Given the description of an element on the screen output the (x, y) to click on. 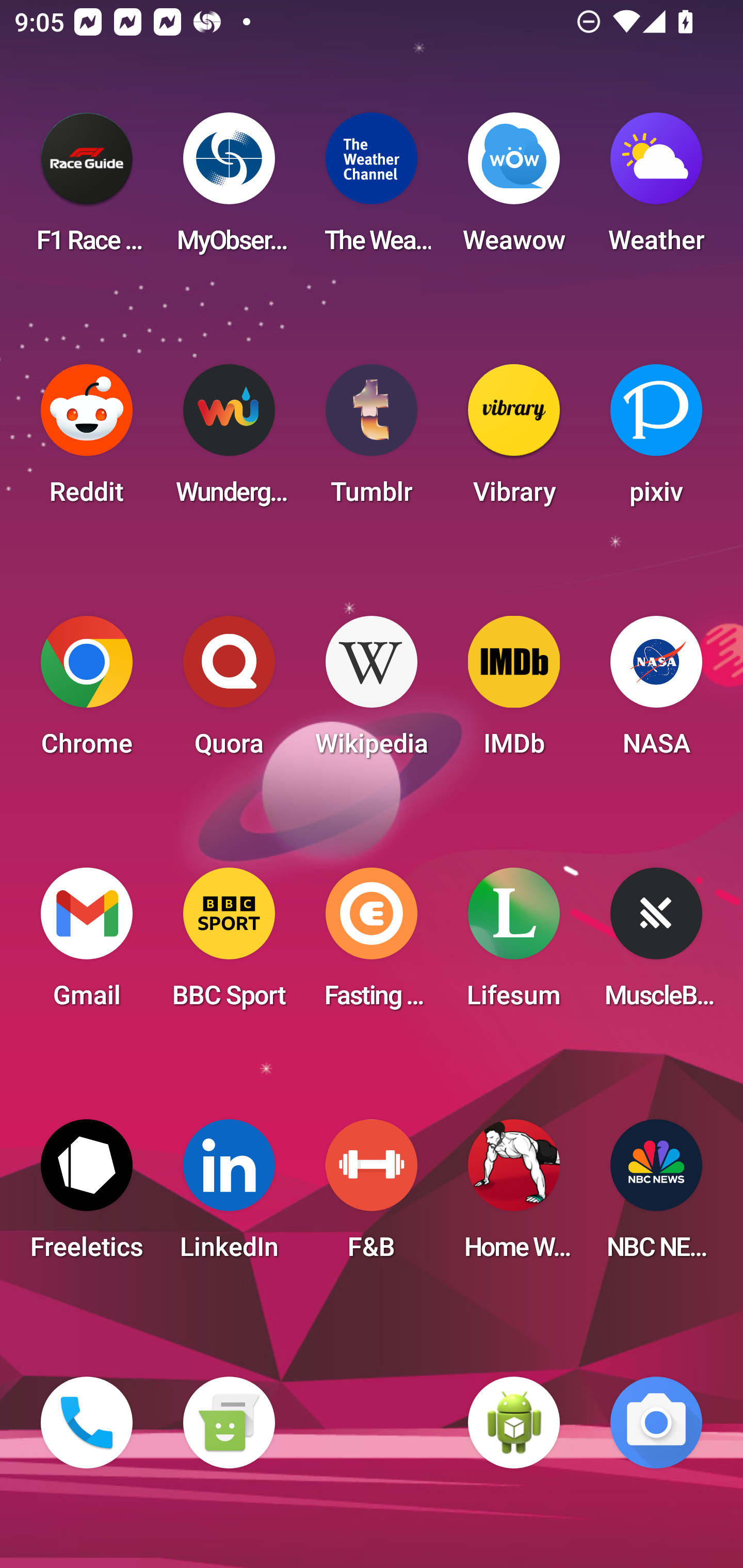
F1 Race Guide (86, 188)
MyObservatory (228, 188)
The Weather Channel (371, 188)
Weawow (513, 188)
Weather (656, 188)
Reddit (86, 440)
Wunderground (228, 440)
Tumblr (371, 440)
Vibrary (513, 440)
pixiv (656, 440)
Chrome (86, 692)
Quora (228, 692)
Wikipedia (371, 692)
IMDb (513, 692)
NASA (656, 692)
Gmail (86, 943)
BBC Sport (228, 943)
Fasting Coach (371, 943)
Lifesum (513, 943)
MuscleBooster (656, 943)
Freeletics (86, 1195)
LinkedIn (228, 1195)
F&B (371, 1195)
Home Workout (513, 1195)
NBC NEWS (656, 1195)
Phone (86, 1422)
Messaging (228, 1422)
WebView Browser Tester (513, 1422)
Camera (656, 1422)
